Given the description of an element on the screen output the (x, y) to click on. 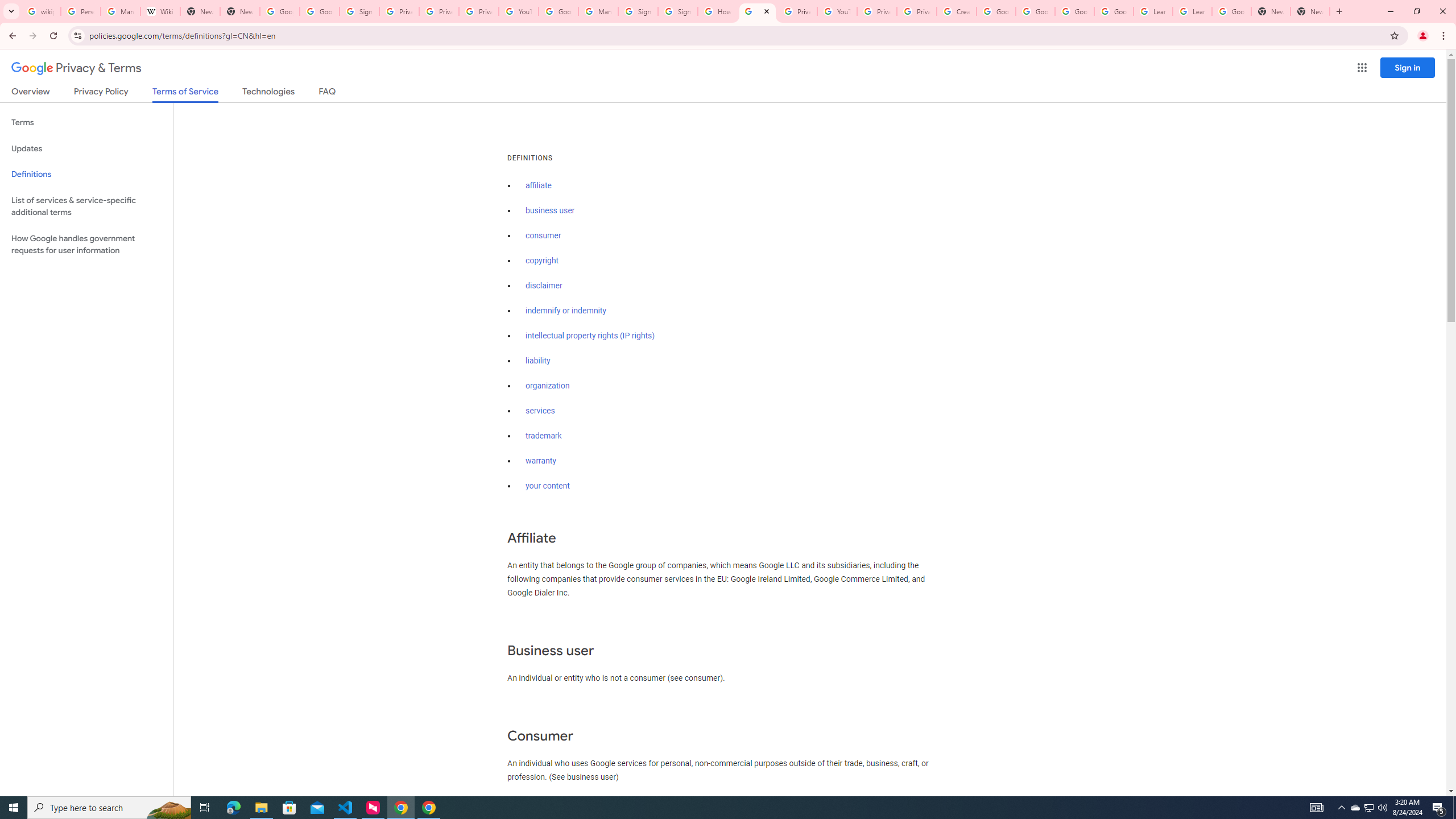
YouTube (836, 11)
intellectual property rights (IP rights) (590, 335)
Sign in - Google Accounts (359, 11)
Google Account (1231, 11)
